Given the description of an element on the screen output the (x, y) to click on. 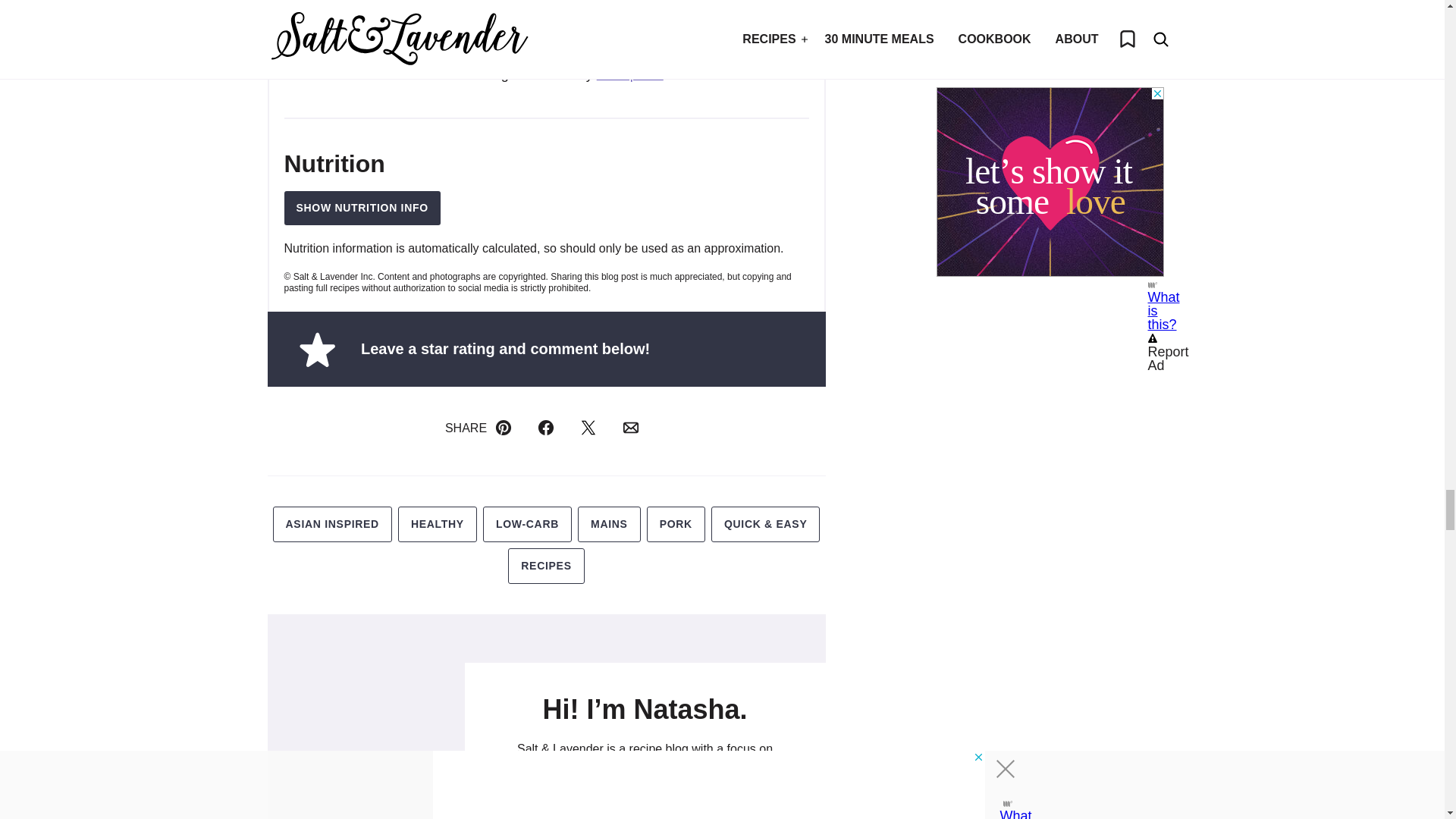
Share via Email (630, 427)
Share on Facebook (545, 427)
Share on Twitter (588, 427)
Share on Pinterest (502, 427)
